Given the description of an element on the screen output the (x, y) to click on. 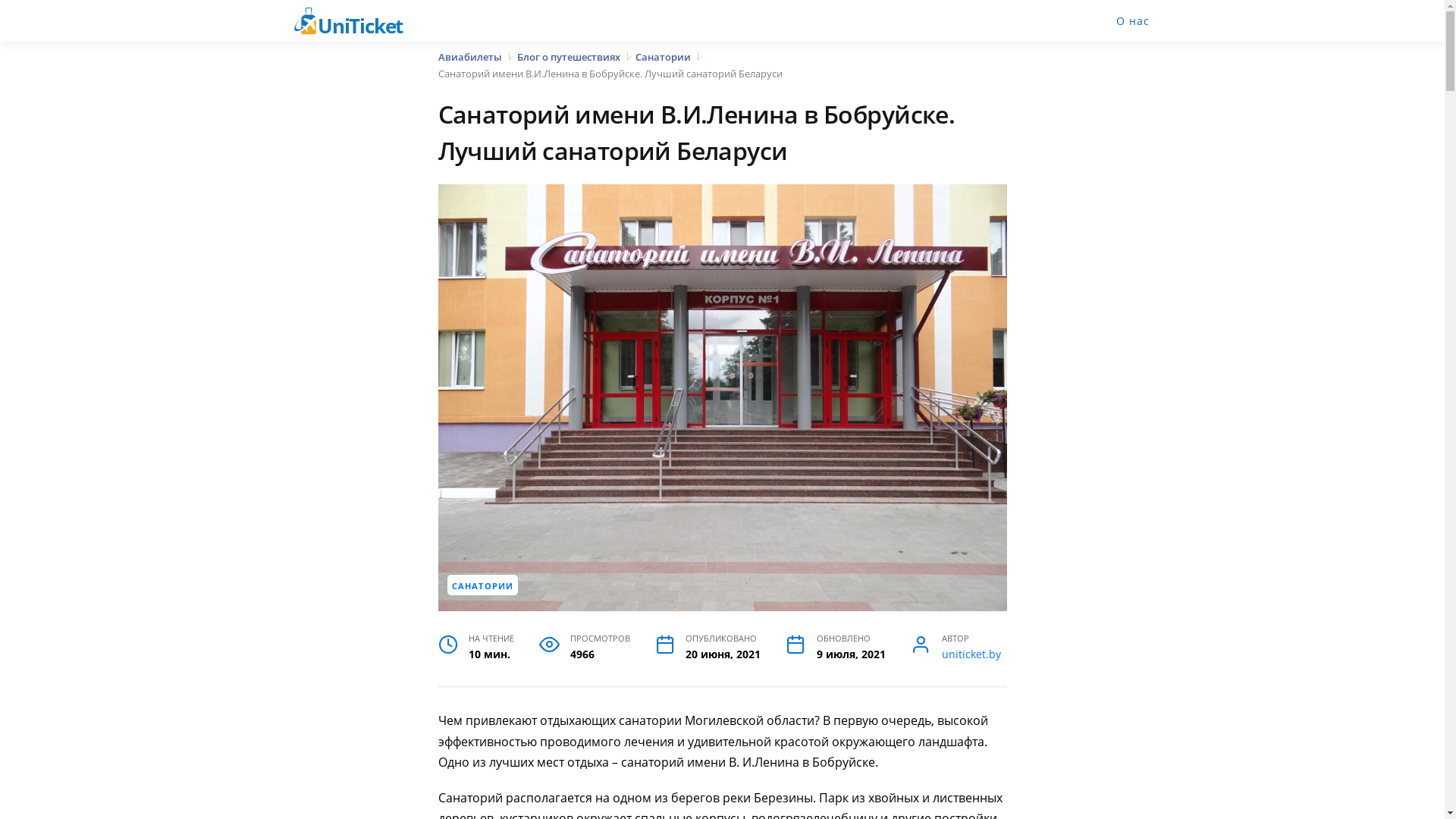
uniticket.by Element type: text (971, 654)
UniTicket Element type: text (357, 20)
